Given the description of an element on the screen output the (x, y) to click on. 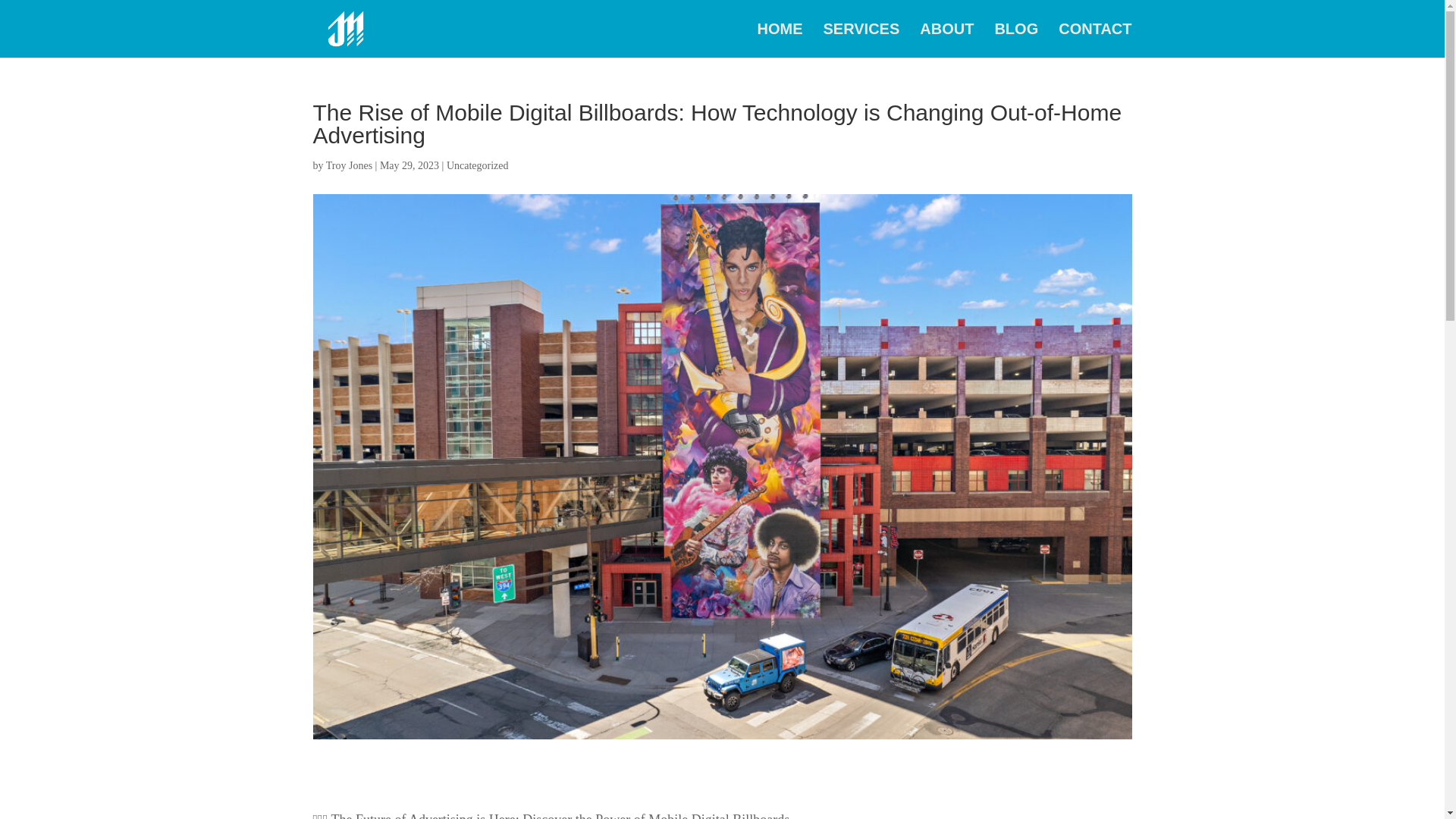
SERVICES (861, 40)
Uncategorized (477, 165)
BLOG (1016, 40)
Troy Jones (349, 165)
HOME (779, 40)
ABOUT (947, 40)
CONTACT (1094, 40)
Posts by Troy Jones (349, 165)
